Given the description of an element on the screen output the (x, y) to click on. 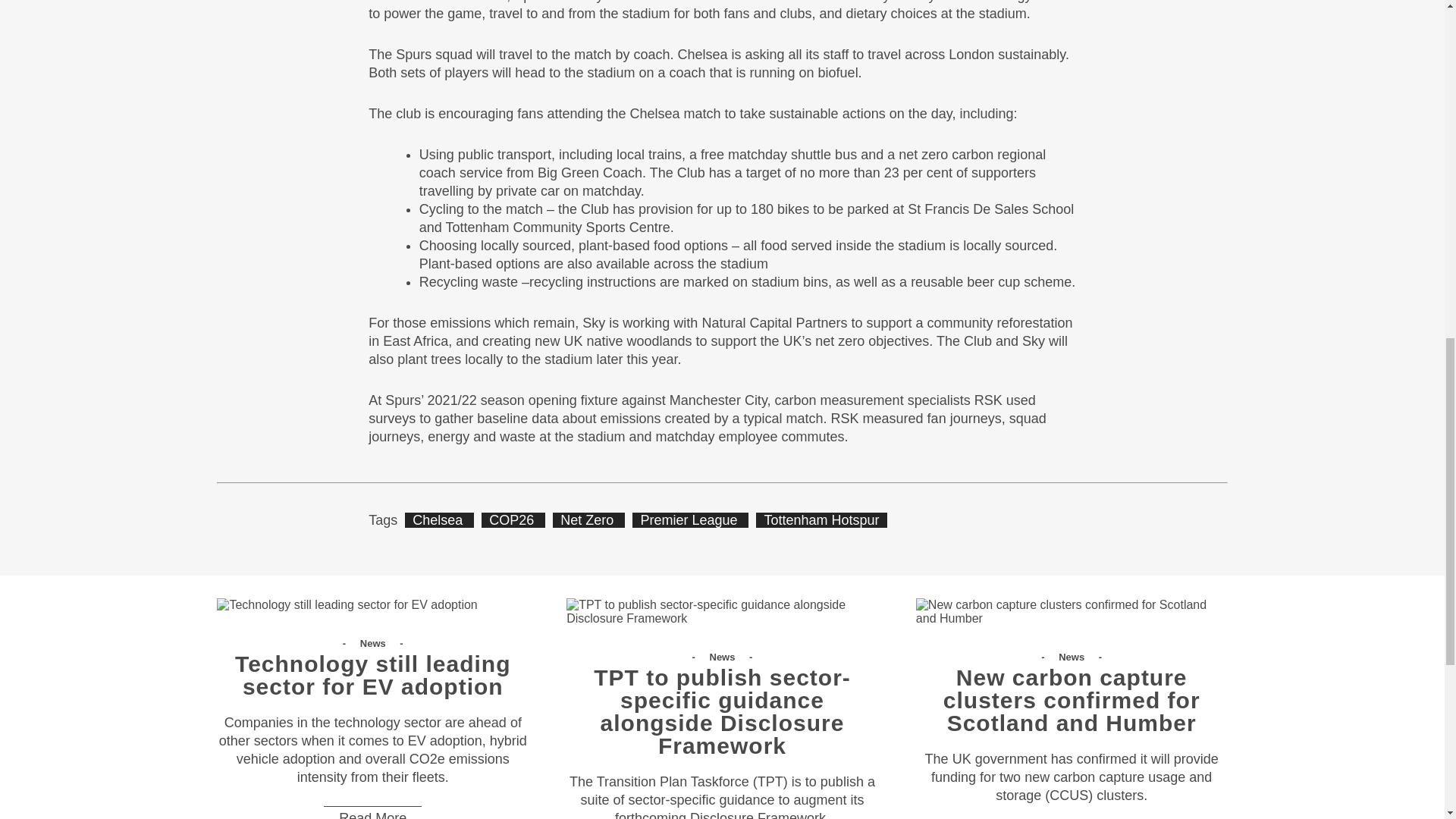
Technology still leading sector for EV adoption (346, 604)
Technology still leading sector for EV adoption (372, 682)
Net Zero (588, 519)
Tottenham Hotspur (820, 519)
News (723, 656)
News (1072, 656)
Chelsea (439, 519)
